Given the description of an element on the screen output the (x, y) to click on. 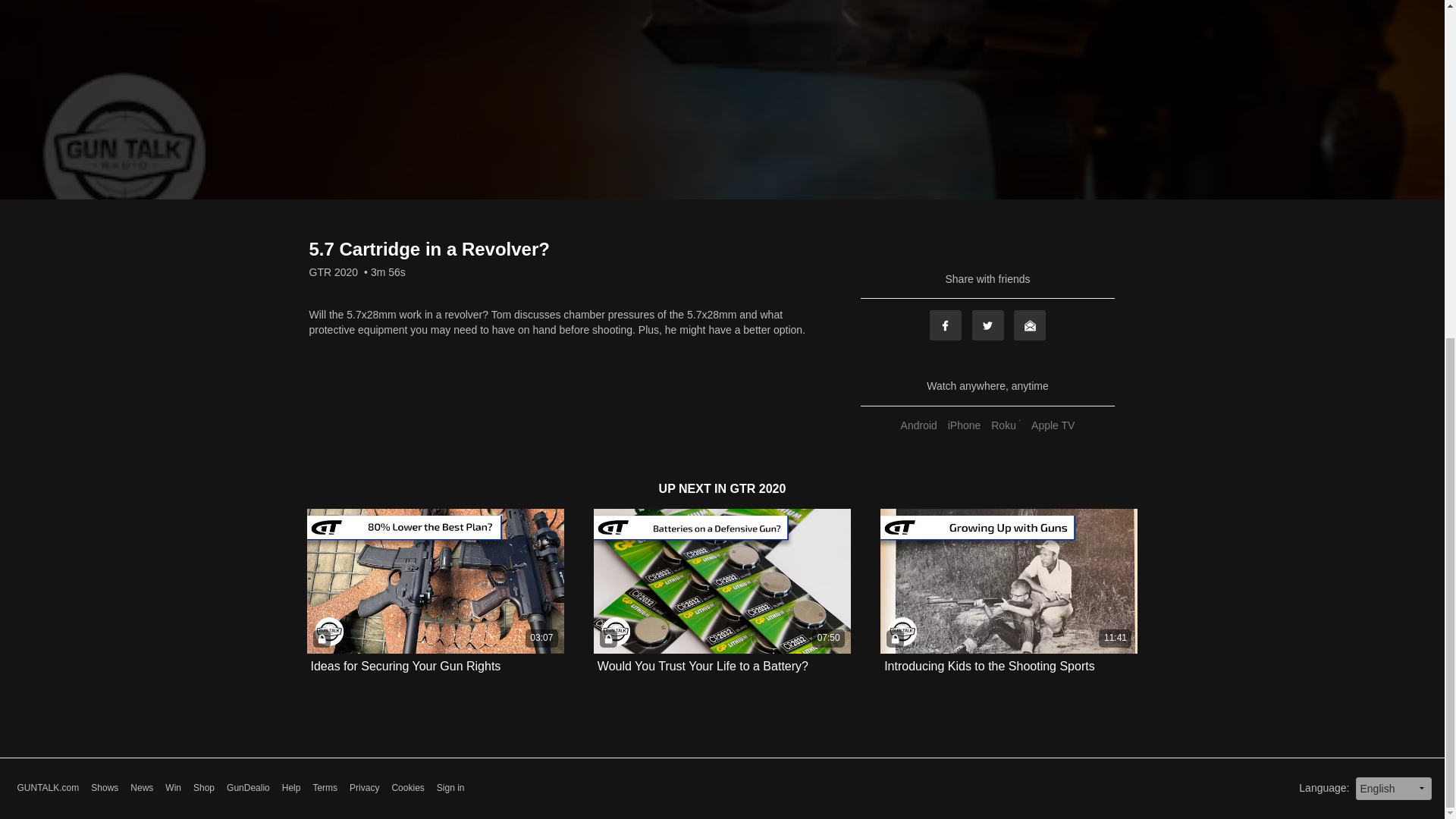
Introducing Kids to the Shooting Sports (988, 666)
Win (172, 788)
Shows (103, 788)
Privacy (363, 788)
03:07 (434, 580)
GTR 2020 (758, 488)
Terms (325, 788)
GTR 2020 (333, 272)
Introducing Kids to the Shooting Sports (988, 666)
11:41 (1008, 580)
